Given the description of an element on the screen output the (x, y) to click on. 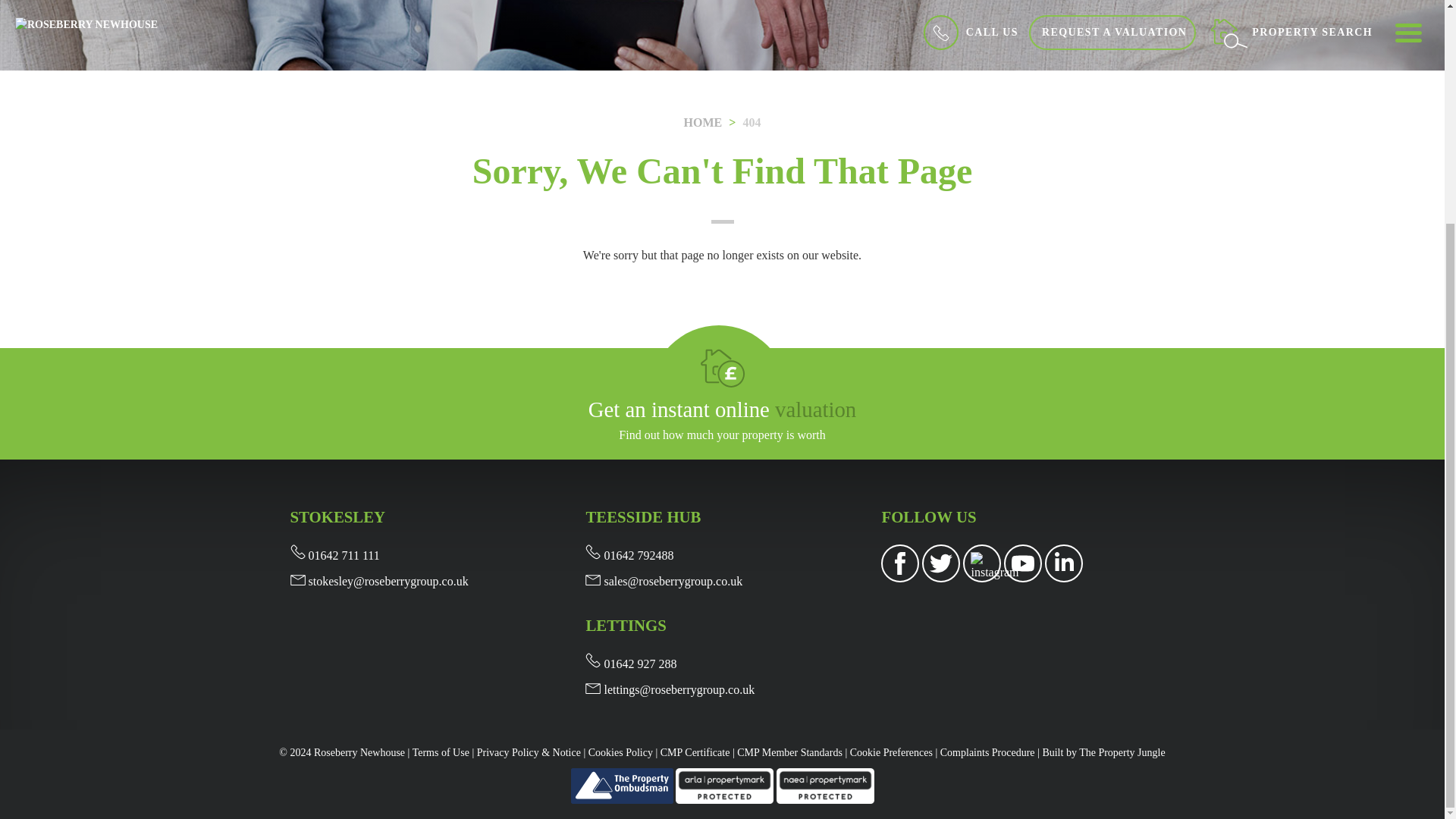
01642 927 288 (631, 663)
Complaints Procedure (987, 752)
Terms of Use (440, 752)
Built by The Property Jungle (1103, 752)
CMP Certificate (695, 752)
CMP Member Standards (789, 752)
HOME (703, 122)
Privacy Policy (528, 752)
01642 711 111 (333, 554)
Cookie Preferences (891, 752)
